Given the description of an element on the screen output the (x, y) to click on. 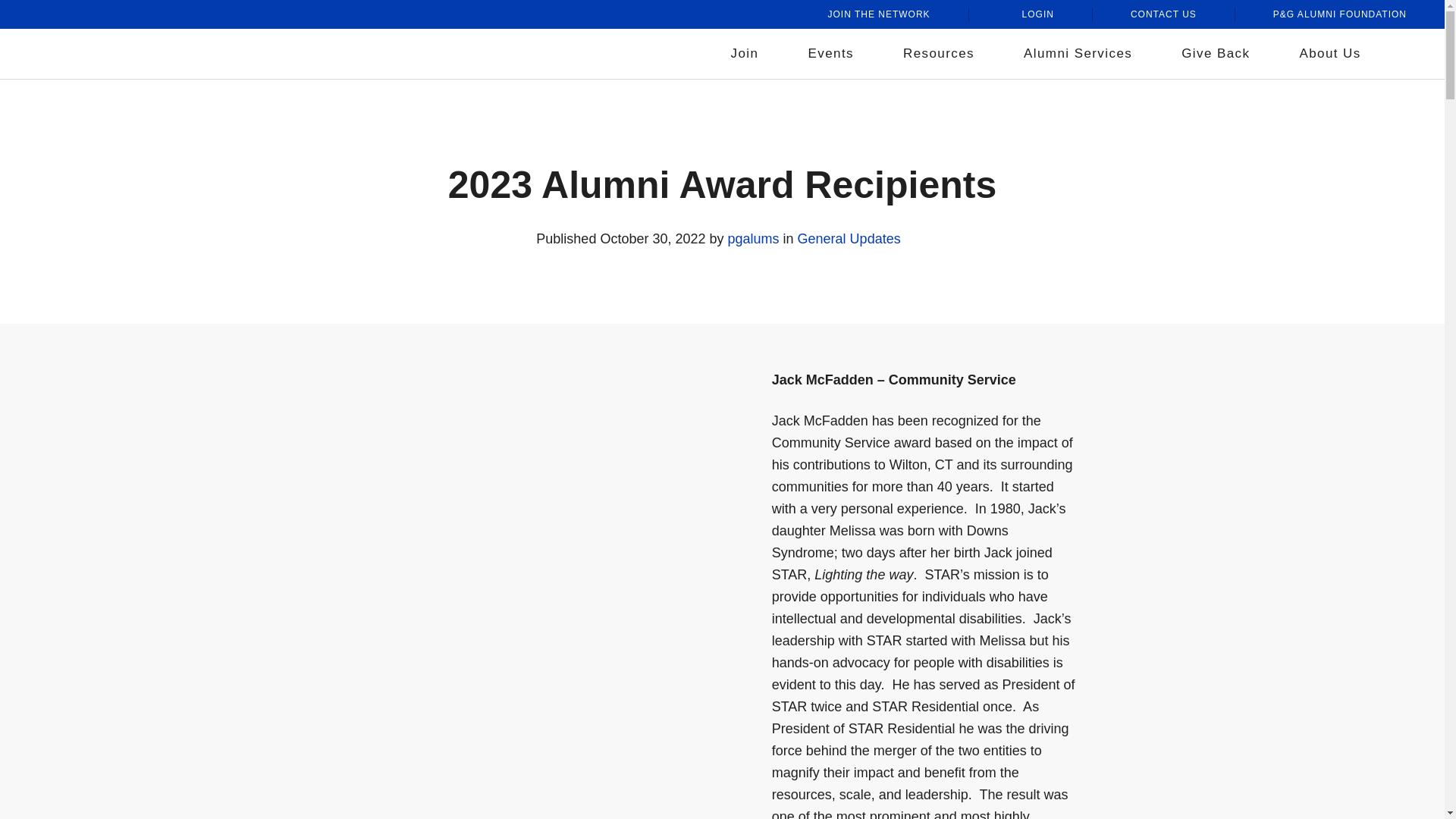
Resources (943, 53)
JOIN THE NETWORK (878, 14)
LOGIN (1031, 14)
Events (836, 53)
Alumni Services (1082, 53)
Join (750, 53)
About Us (1334, 53)
CONTACT US (1163, 14)
Give Back (1220, 53)
